Given the description of an element on the screen output the (x, y) to click on. 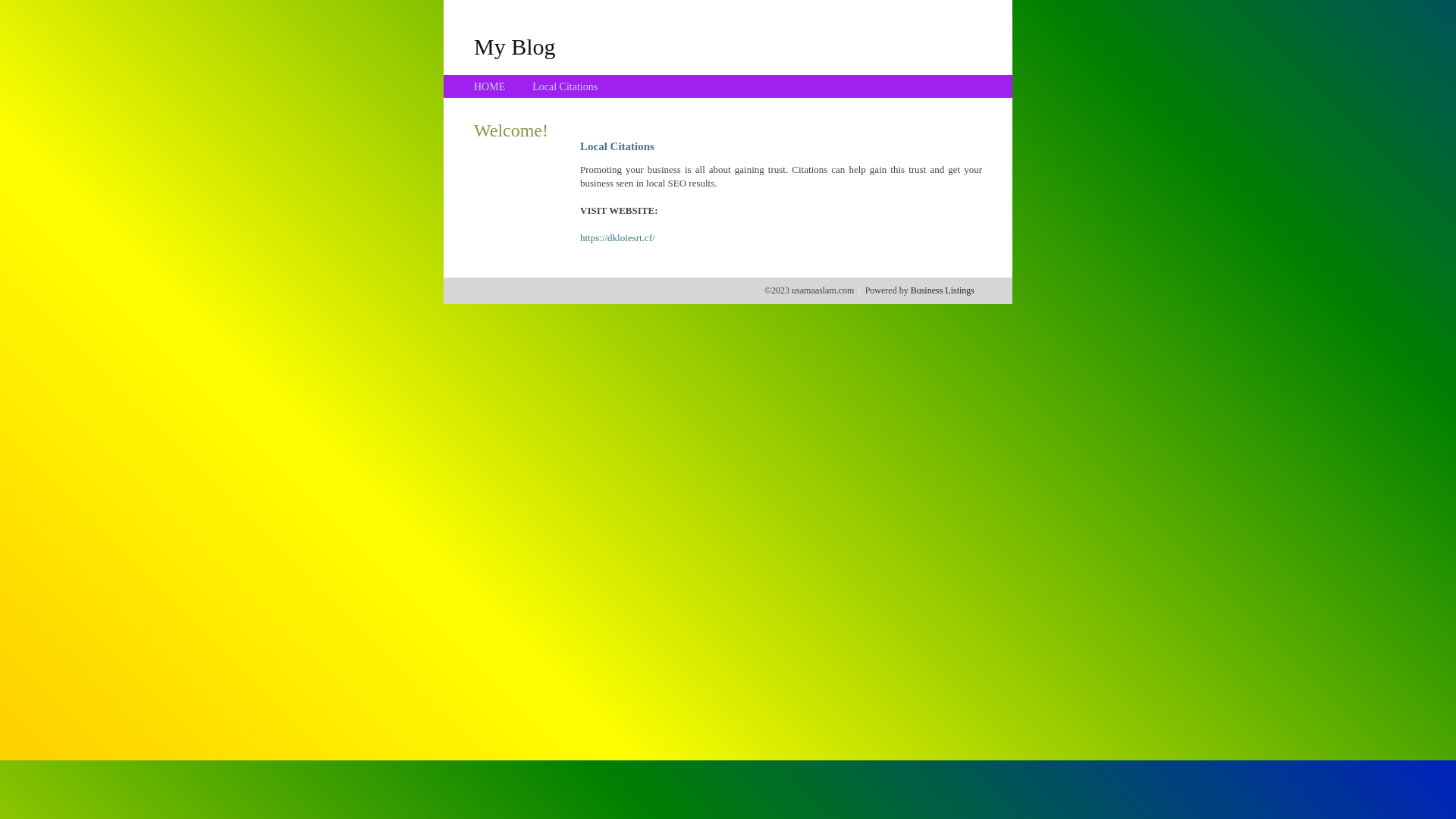
Local Citations Element type: text (564, 86)
HOME Element type: text (489, 86)
Business Listings Element type: text (942, 290)
https://dkloiesrt.cf/ Element type: text (617, 237)
My Blog Element type: text (514, 46)
